Given the description of an element on the screen output the (x, y) to click on. 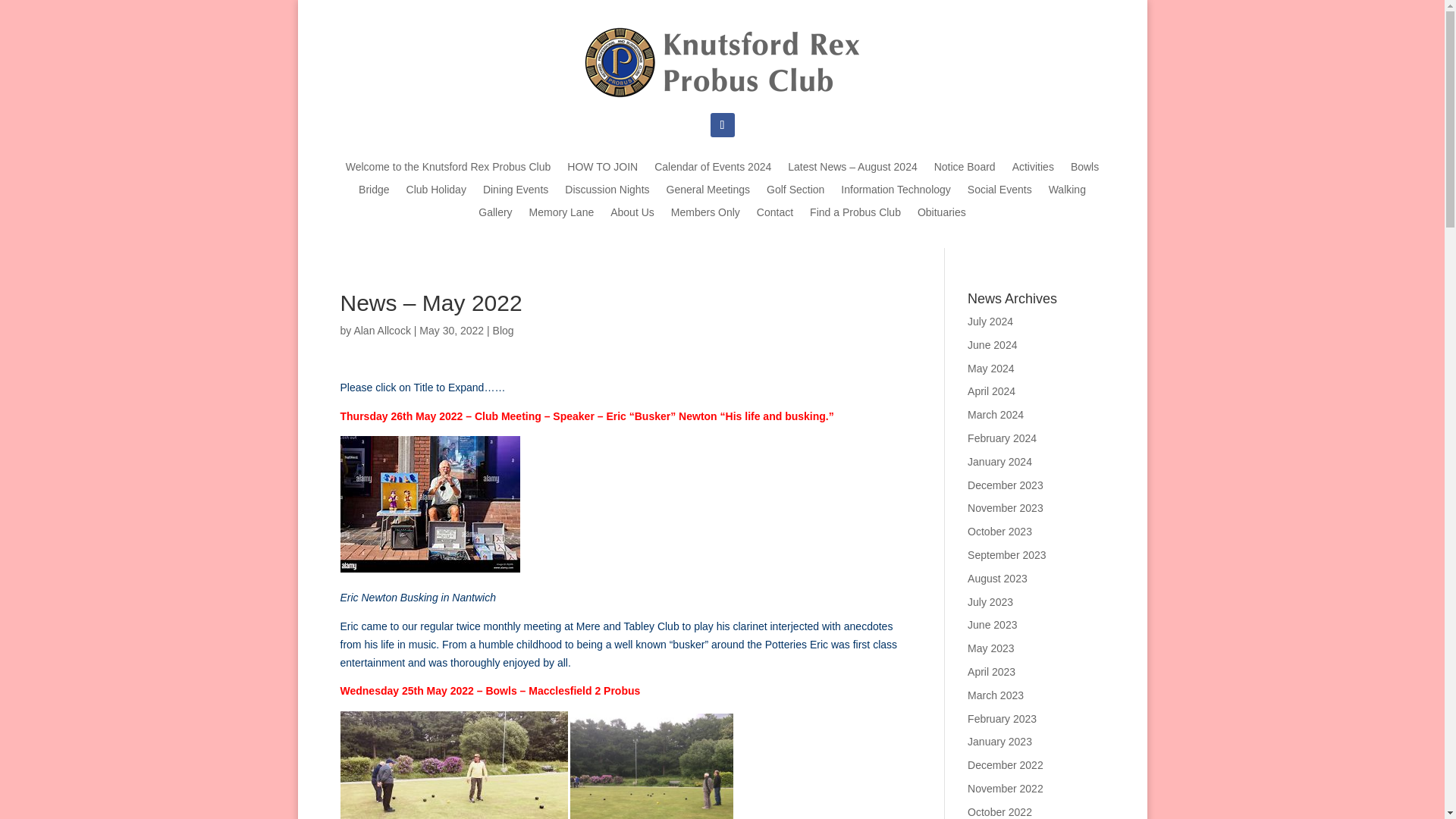
header-knutsford-rex-probus-club-logo (722, 62)
HOW TO JOIN (602, 169)
Golf Section (795, 192)
Find a Probus Club (855, 215)
Bowls (1084, 169)
Calendar of Events 2024 (712, 169)
Follow on Facebook (721, 125)
Walking (1067, 192)
Social Events (1000, 192)
Posts by Alan Allcock (381, 330)
